Given the description of an element on the screen output the (x, y) to click on. 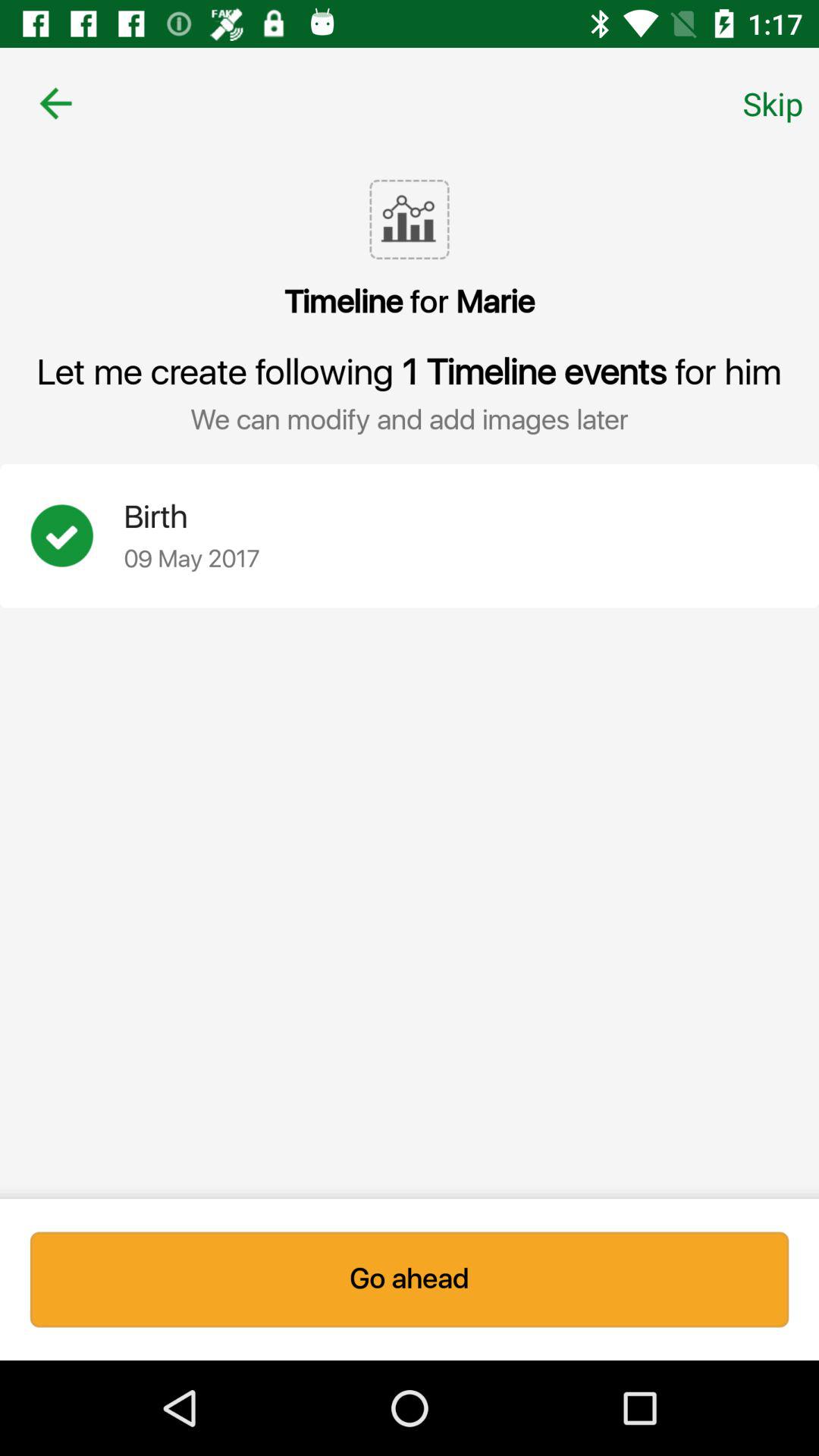
verification of event (76, 535)
